Given the description of an element on the screen output the (x, y) to click on. 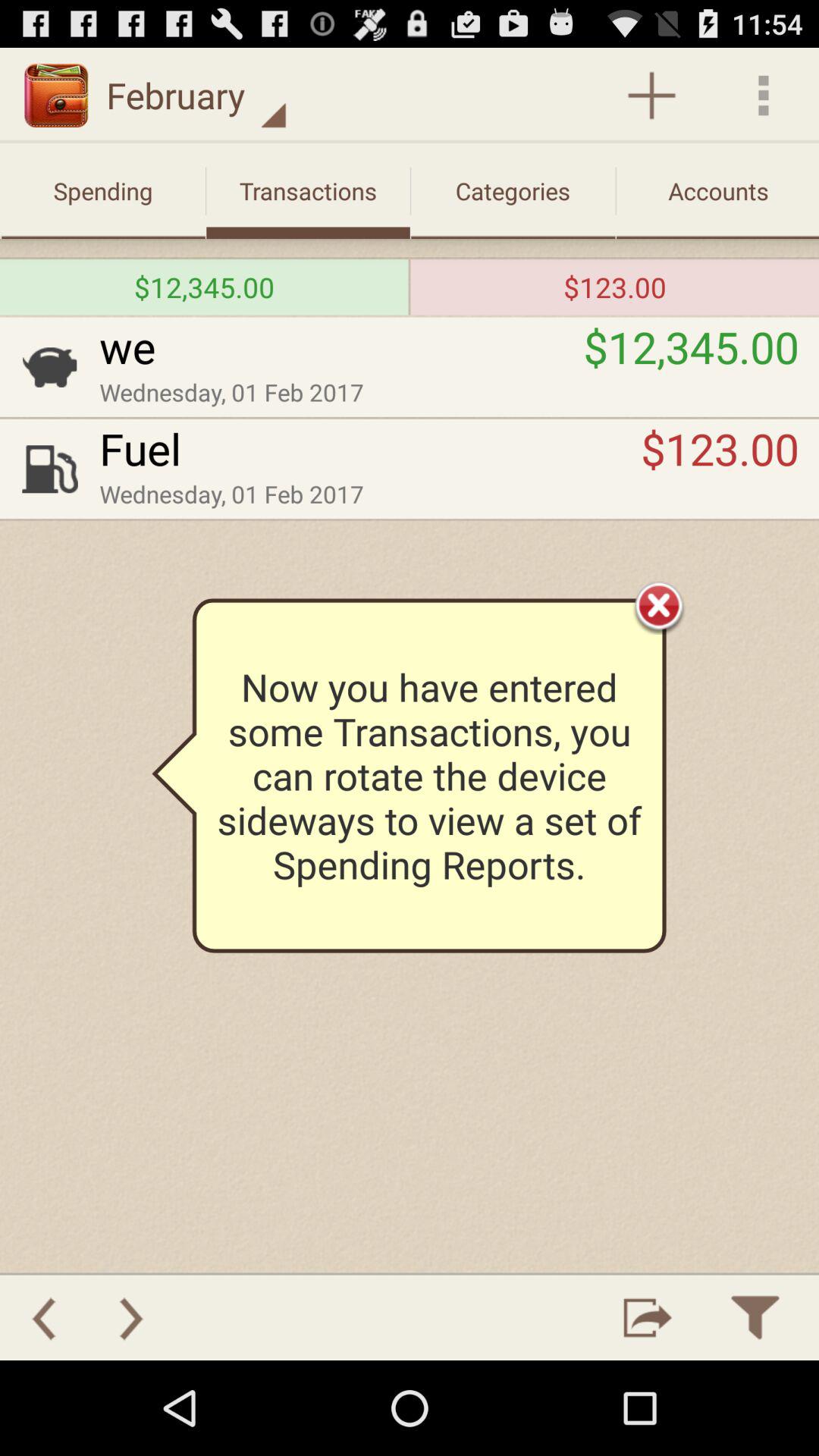
add an item (651, 95)
